Given the description of an element on the screen output the (x, y) to click on. 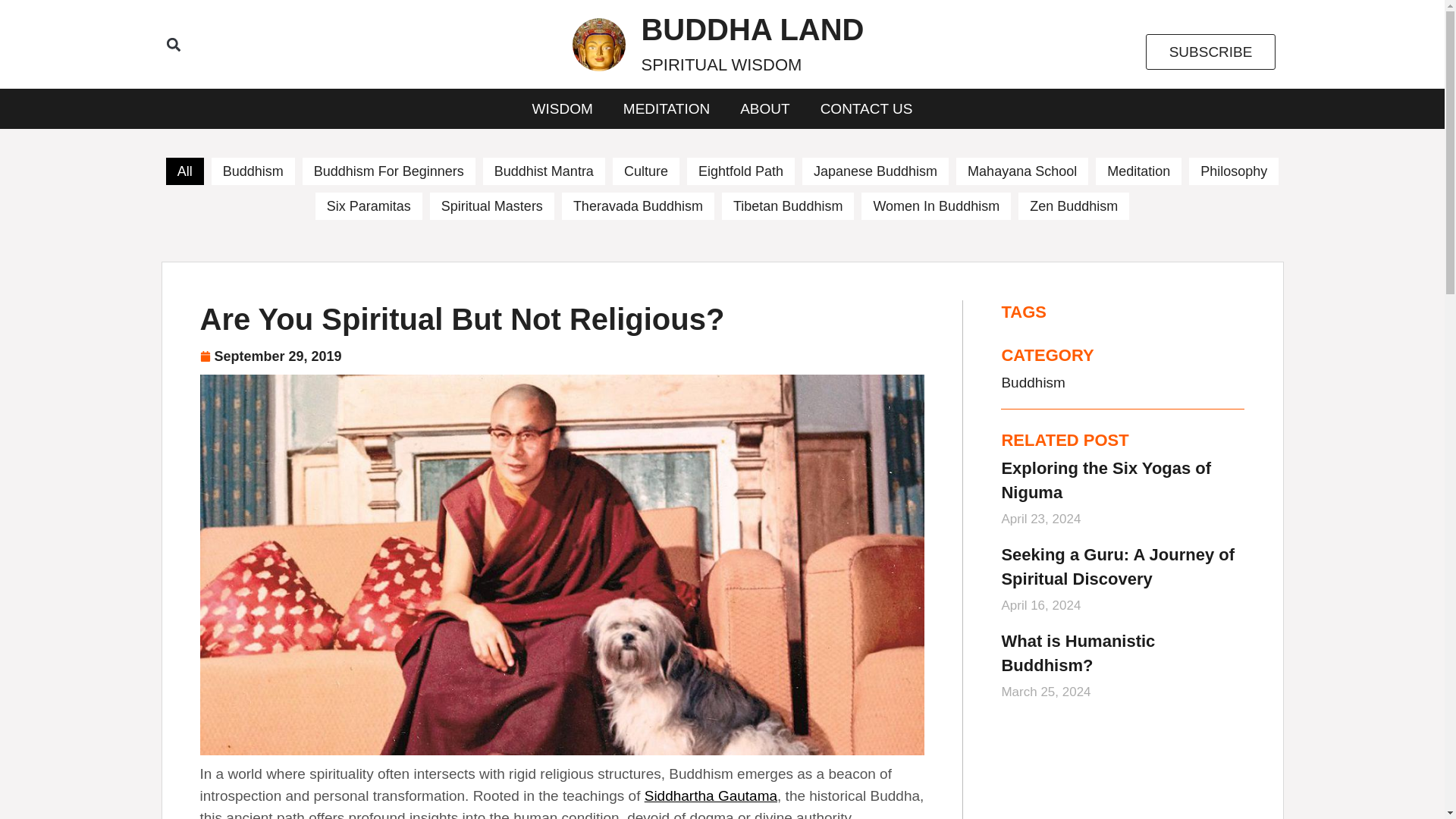
ABOUT (765, 108)
CONTACT US (866, 108)
Meditation (1138, 170)
Buddhist Mantra (751, 44)
Mahayana School (544, 170)
Buddhism For Beginners (1022, 170)
WISDOM (389, 170)
Japanese Buddhism (562, 108)
MEDITATION (875, 170)
Eightfold Path (666, 108)
Philosophy (740, 170)
Culture (1232, 170)
SUBSCRIBE (646, 170)
Buddhism (1210, 51)
